Given the description of an element on the screen output the (x, y) to click on. 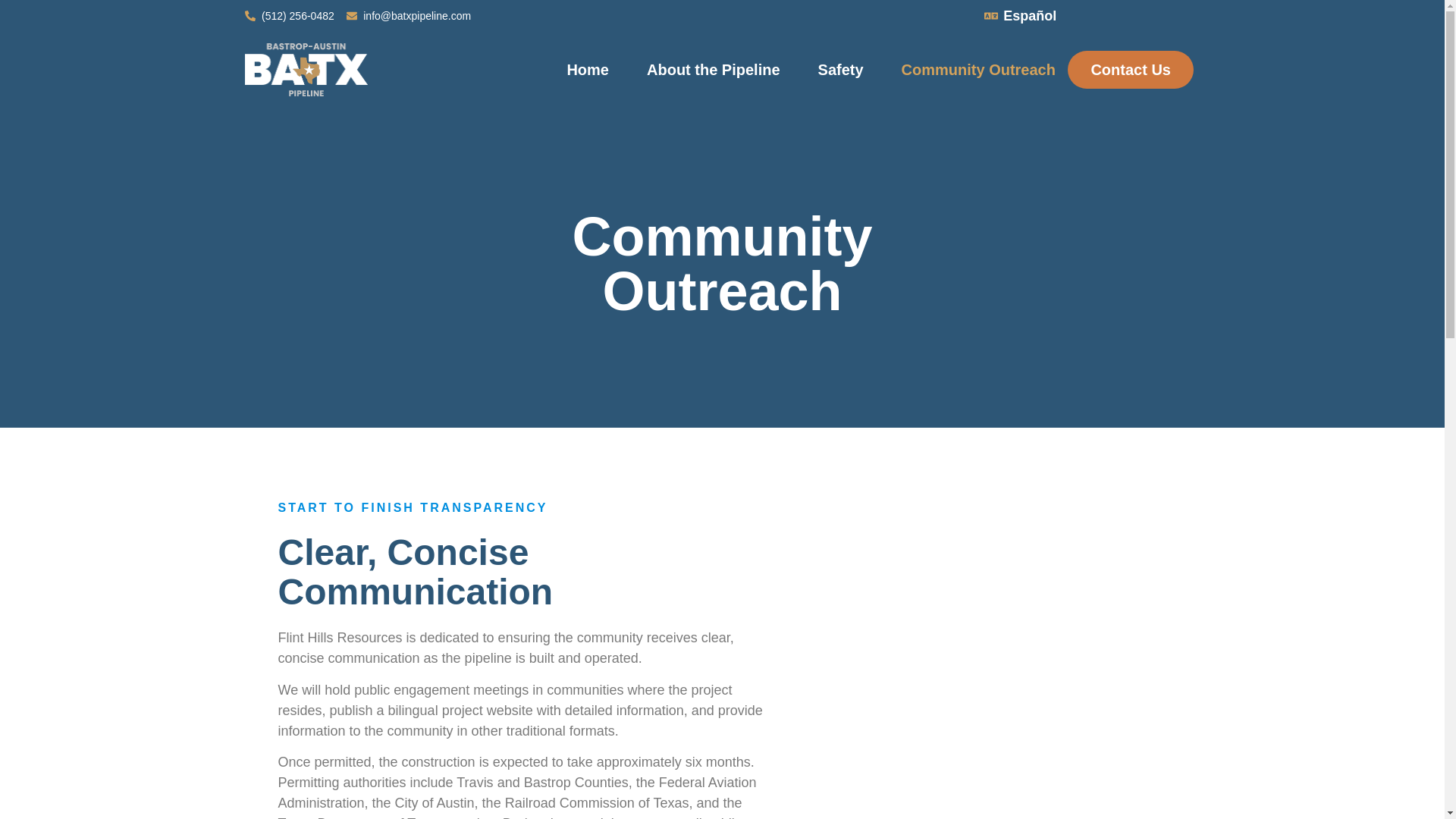
Contact Us (1130, 69)
Community Outreach (978, 69)
Safety (840, 69)
Home (587, 69)
About the Pipeline (713, 69)
